Given the description of an element on the screen output the (x, y) to click on. 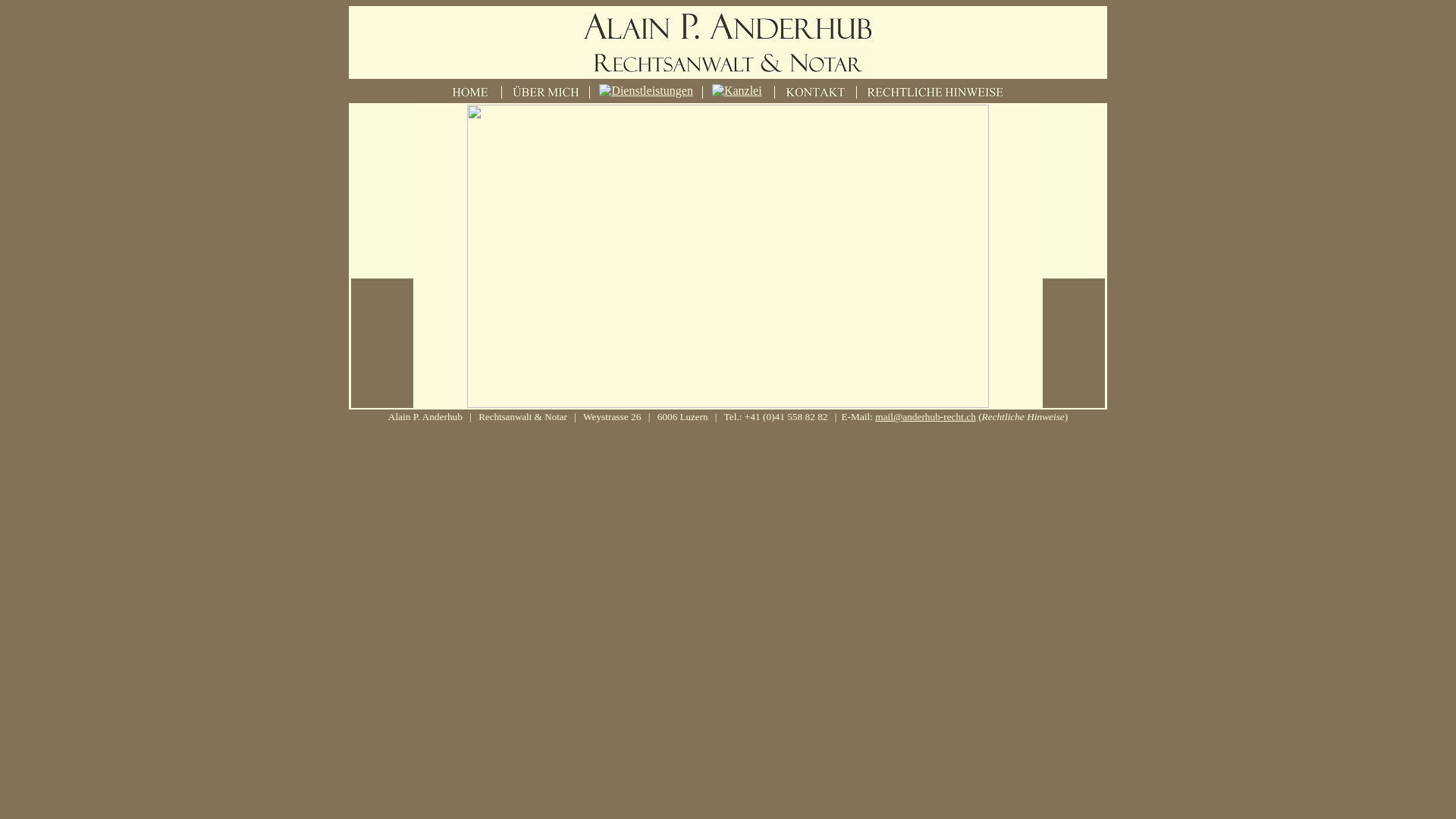
Rechtliche Hinweise Element type: text (1023, 416)
mail@anderhub-recht.ch Element type: text (925, 416)
